Given the description of an element on the screen output the (x, y) to click on. 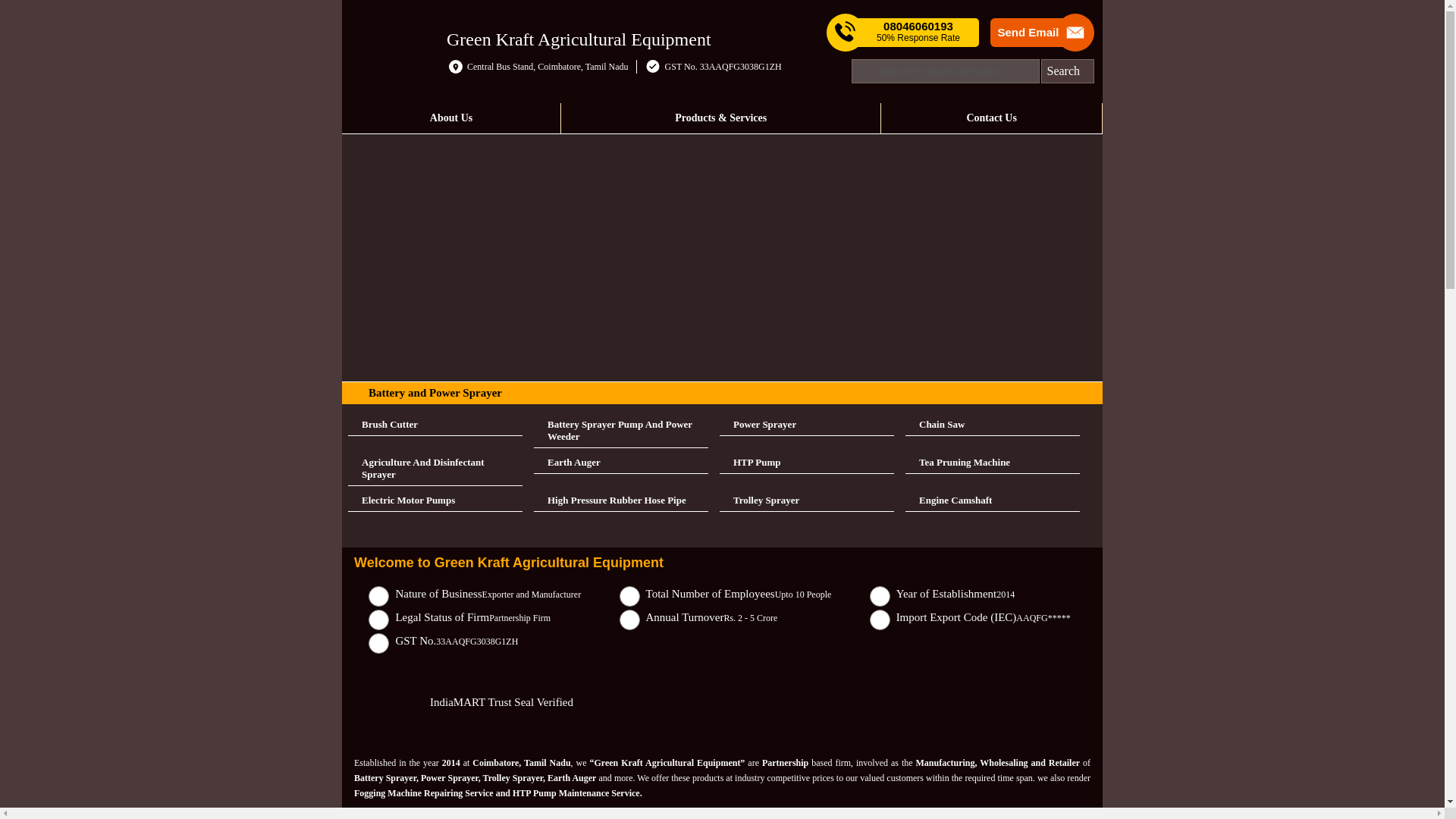
Send SMS Free (917, 32)
Trolley Sprayer (806, 500)
Battery Sprayer Pump And Power Weeder (620, 430)
Chain Saw (992, 424)
Engine Camshaft (992, 500)
Agriculture And Disinfectant Sprayer (434, 469)
Power Sprayer (806, 424)
Contact Us (991, 118)
Earth Auger (620, 463)
High Pressure Rubber Hose Pipe (620, 500)
HTP Pump (806, 463)
About Us (451, 118)
Tea Pruning Machine (992, 463)
Electric Motor Pumps (434, 500)
